Given the description of an element on the screen output the (x, y) to click on. 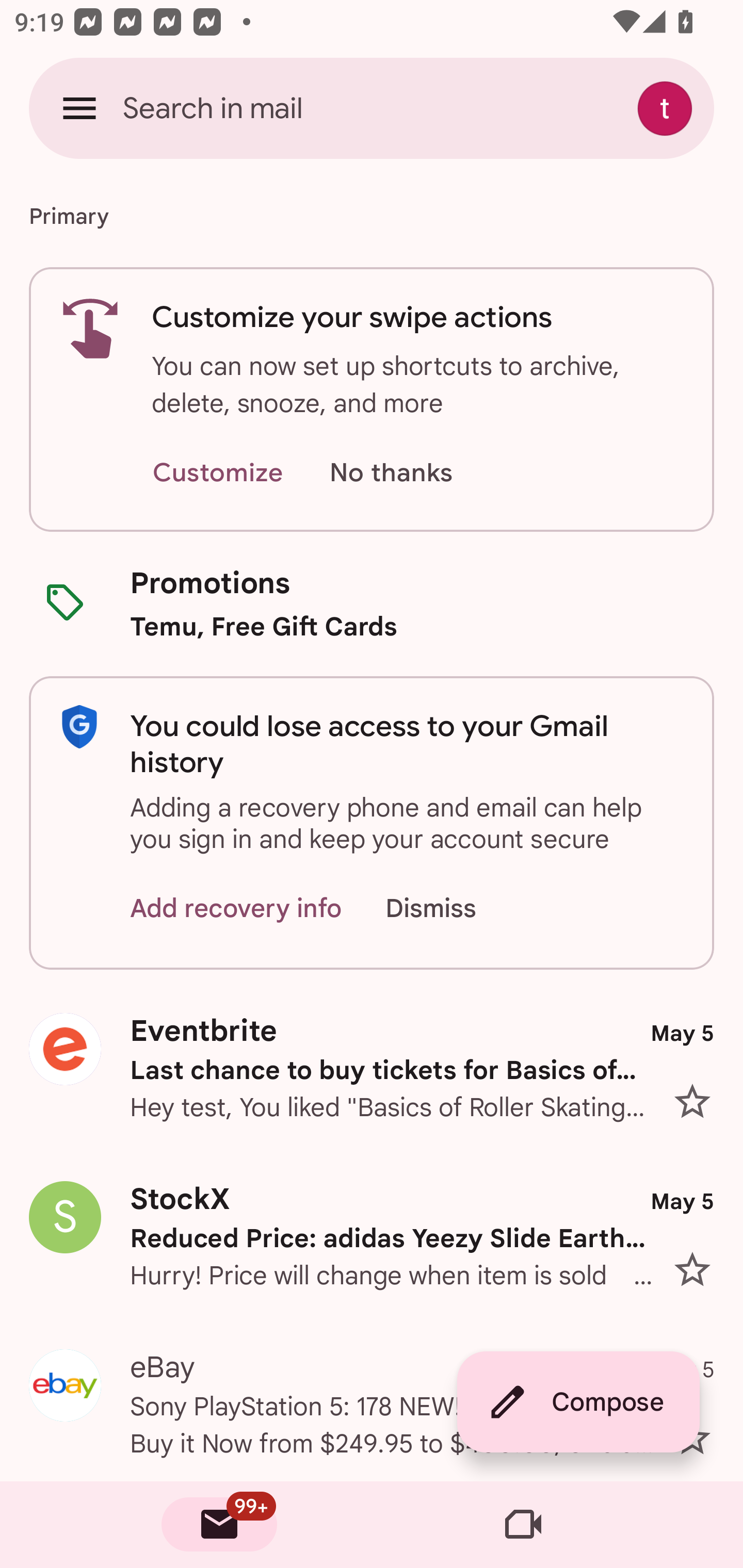
Open navigation drawer (79, 108)
Customize (217, 473)
No thanks (390, 473)
Promotions Temu, Free Gift Cards (371, 603)
Add recovery info (235, 908)
Dismiss (449, 908)
Compose (577, 1401)
Meet (523, 1524)
